Given the description of an element on the screen output the (x, y) to click on. 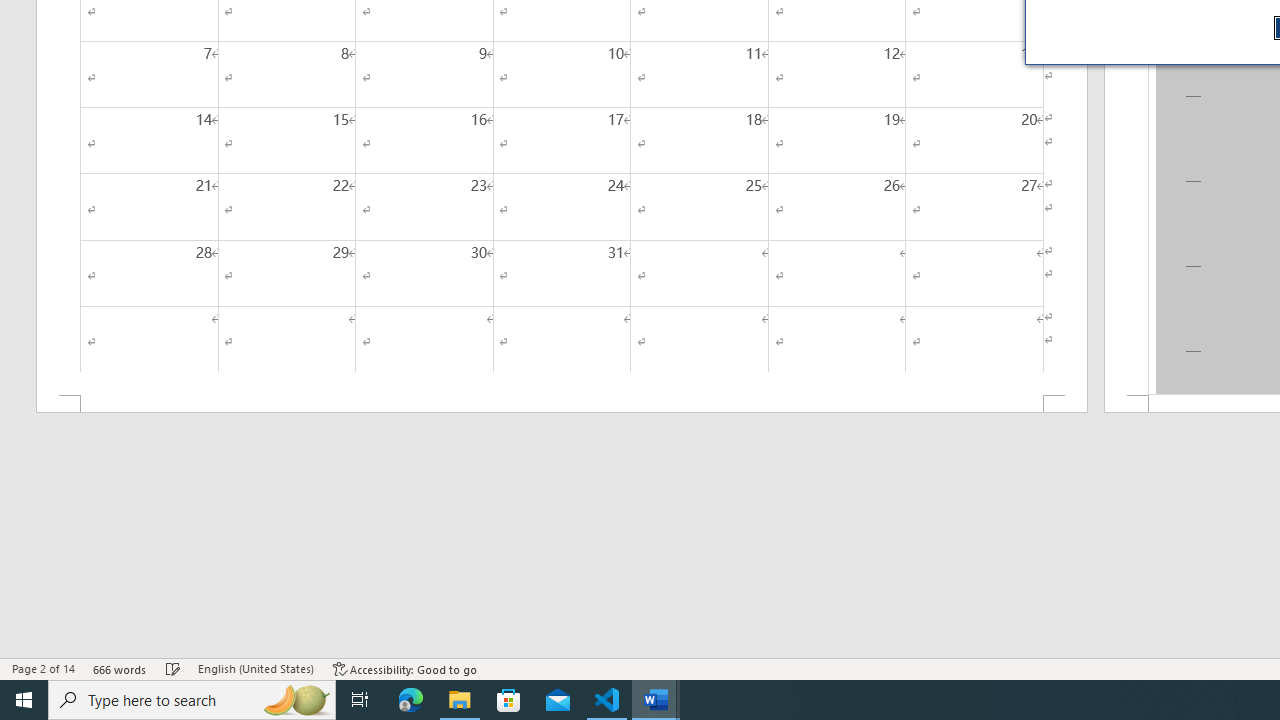
Visual Studio Code - 1 running window (607, 699)
Page Number Page 2 of 14 (43, 668)
Search highlights icon opens search home window (295, 699)
Word Count 666 words (119, 668)
File Explorer - 1 running window (460, 699)
Accessibility Checker Accessibility: Good to go (405, 668)
Task View (359, 699)
Type here to search (191, 699)
Word - 2 running windows (656, 699)
Spelling and Grammar Check Checking (173, 668)
Language English (United States) (255, 668)
Microsoft Edge (411, 699)
Start (24, 699)
Footer -Section 1- (561, 404)
